Given the description of an element on the screen output the (x, y) to click on. 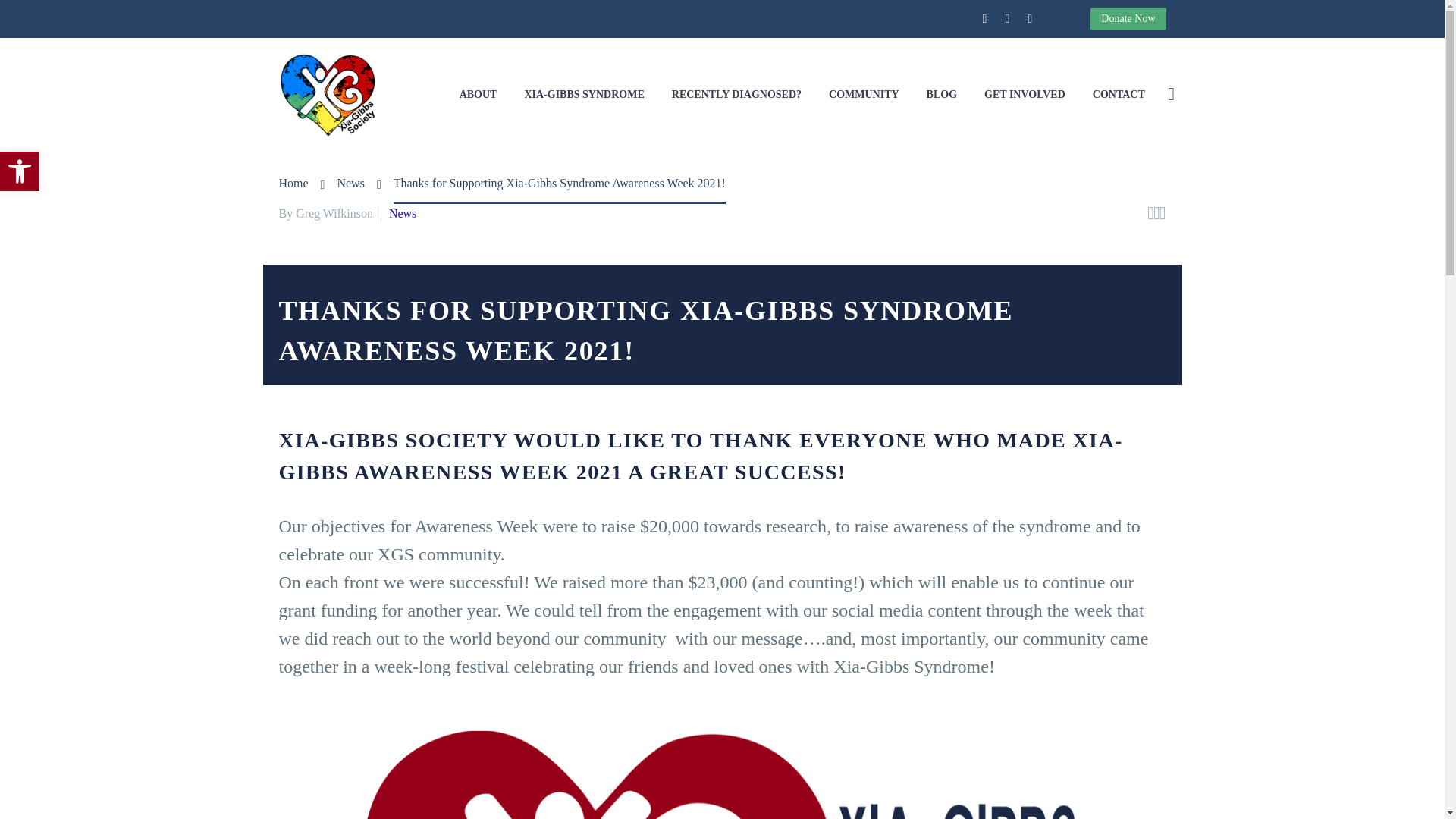
Twitter (1006, 19)
View all posts in News (402, 213)
Instagram (1029, 19)
Accessibility Tools (19, 170)
RECENTLY DIAGNOSED? (736, 94)
Donate Now (1128, 18)
CONTACT (1118, 94)
BLOG (19, 170)
COMMUNITY (941, 94)
s (863, 94)
Facebook (1323, 174)
Accessibility Tools (983, 19)
GET INVOLVED (19, 170)
ABOUT (1024, 94)
